Given the description of an element on the screen output the (x, y) to click on. 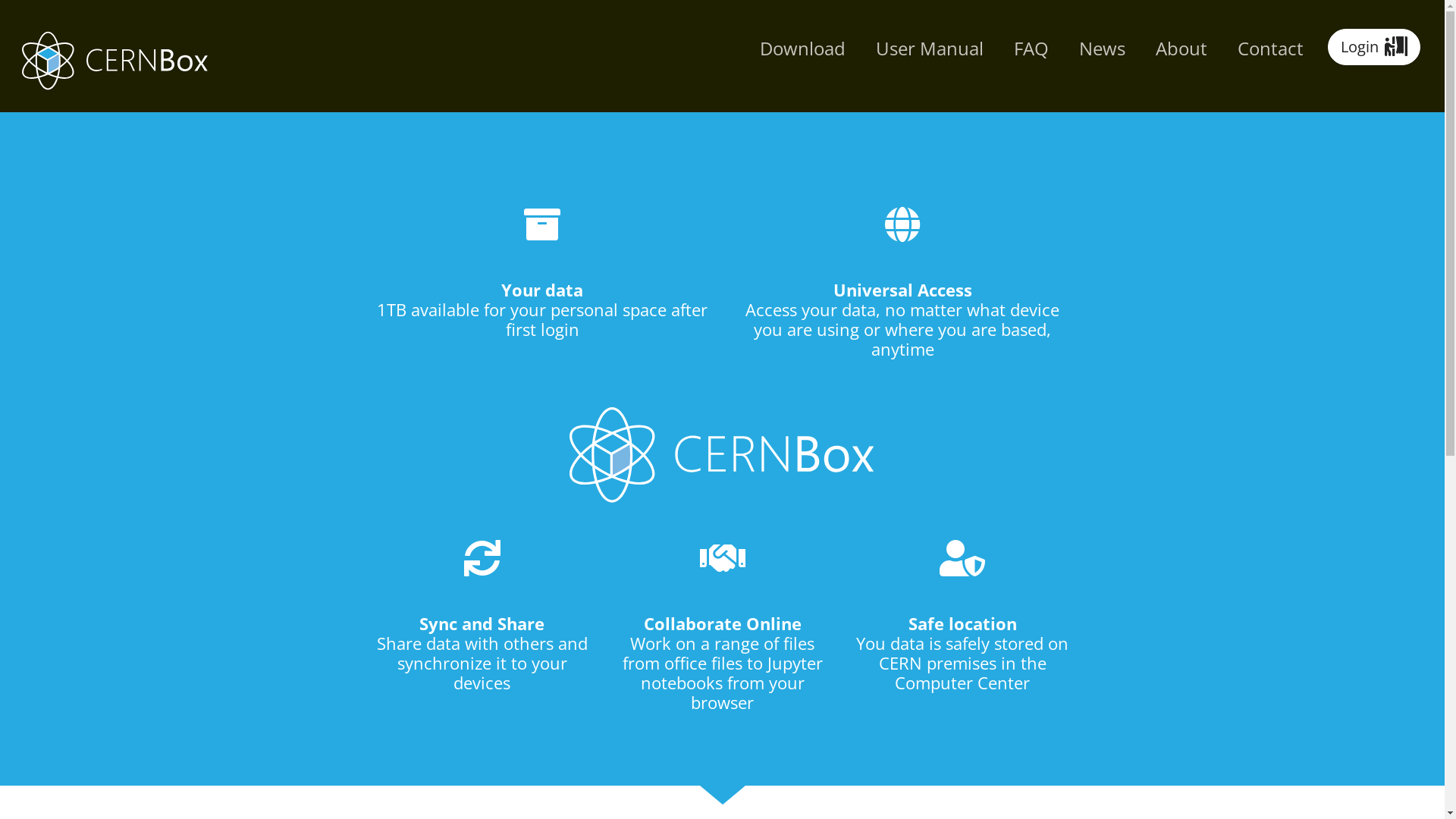
Login Element type: text (1373, 46)
User Manual Element type: text (929, 48)
Contact Element type: text (1270, 48)
Download Element type: text (802, 48)
FAQ Element type: text (1030, 48)
About Element type: text (1181, 48)
News Element type: text (1102, 48)
